Given the description of an element on the screen output the (x, y) to click on. 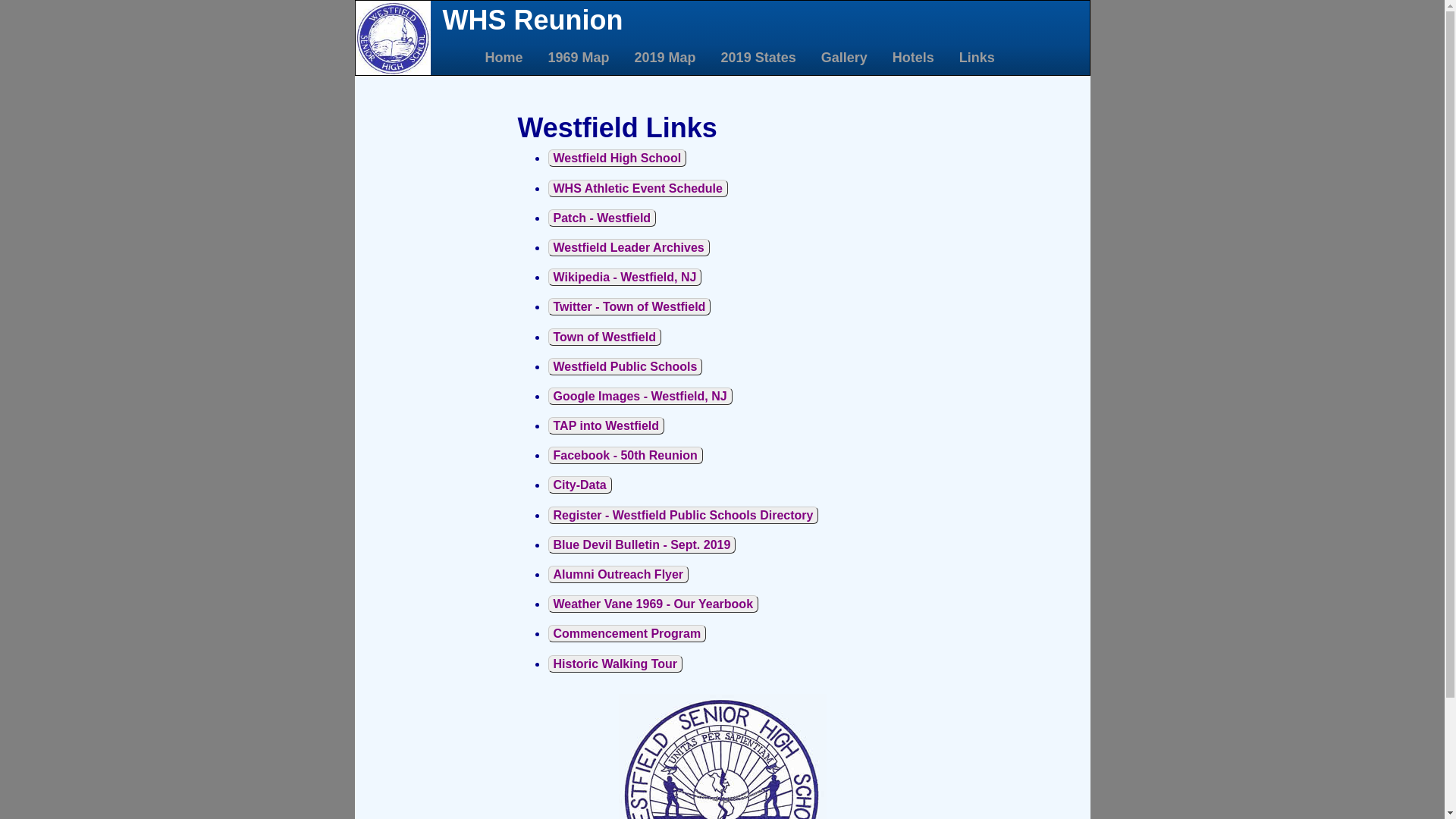
Westfield Public Schools Element type: text (624, 366)
Home Element type: text (501, 57)
TAP into Westfield Element type: text (605, 425)
WHS Athletic Event Schedule Element type: text (637, 188)
Westfield High School Element type: text (616, 157)
Patch - Westfield Element type: text (601, 217)
Facebook - 50th Reunion Element type: text (624, 455)
Gallery Element type: text (842, 57)
Register - Westfield Public Schools Directory Element type: text (682, 515)
Links Element type: text (975, 57)
Twitter - Town of Westfield Element type: text (628, 306)
Weather Vane 1969 - Our Yearbook Element type: text (652, 603)
Westfield Leader Archives Element type: text (628, 247)
Google Images - Westfield, NJ Element type: text (639, 395)
Blue Devil Bulletin - Sept. 2019 Element type: text (641, 544)
Alumni Outreach Flyer Element type: text (617, 574)
City-Data Element type: text (579, 484)
Historic Walking Tour Element type: text (614, 663)
2019 Map Element type: text (664, 57)
Commencement Program Element type: text (626, 633)
1969 Map Element type: text (576, 57)
Town of Westfield Element type: text (603, 336)
Wikipedia - Westfield, NJ Element type: text (624, 276)
2019 States Element type: text (757, 57)
Hotels Element type: text (911, 57)
